Given the description of an element on the screen output the (x, y) to click on. 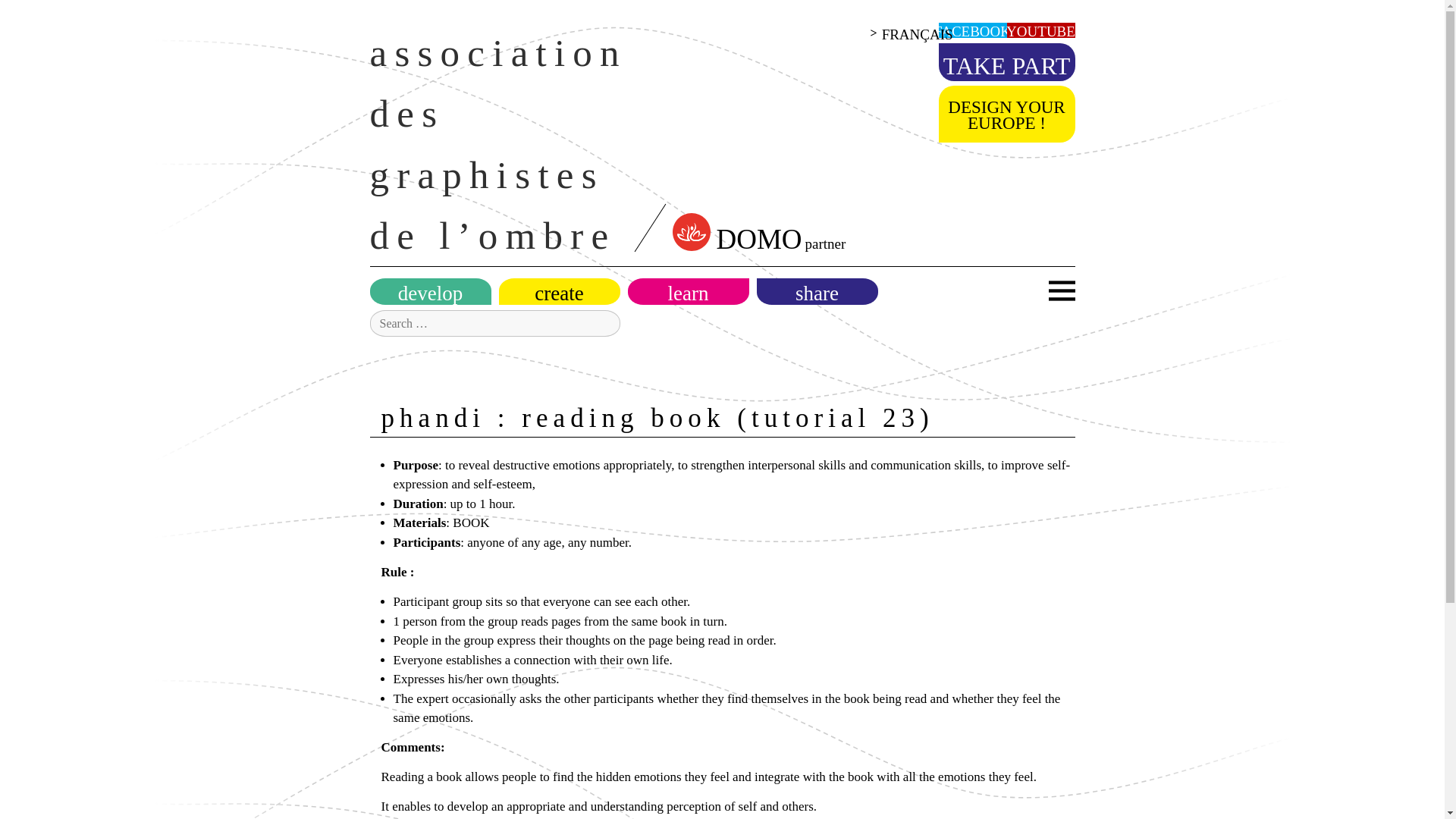
create (559, 293)
develop (430, 293)
FACEBOOK (972, 31)
TAKE PART (1006, 65)
learn (688, 293)
DESIGN YOUR EUROPE ! (1006, 115)
YOUTUBE (1040, 31)
share (817, 293)
Search (45, 17)
